Given the description of an element on the screen output the (x, y) to click on. 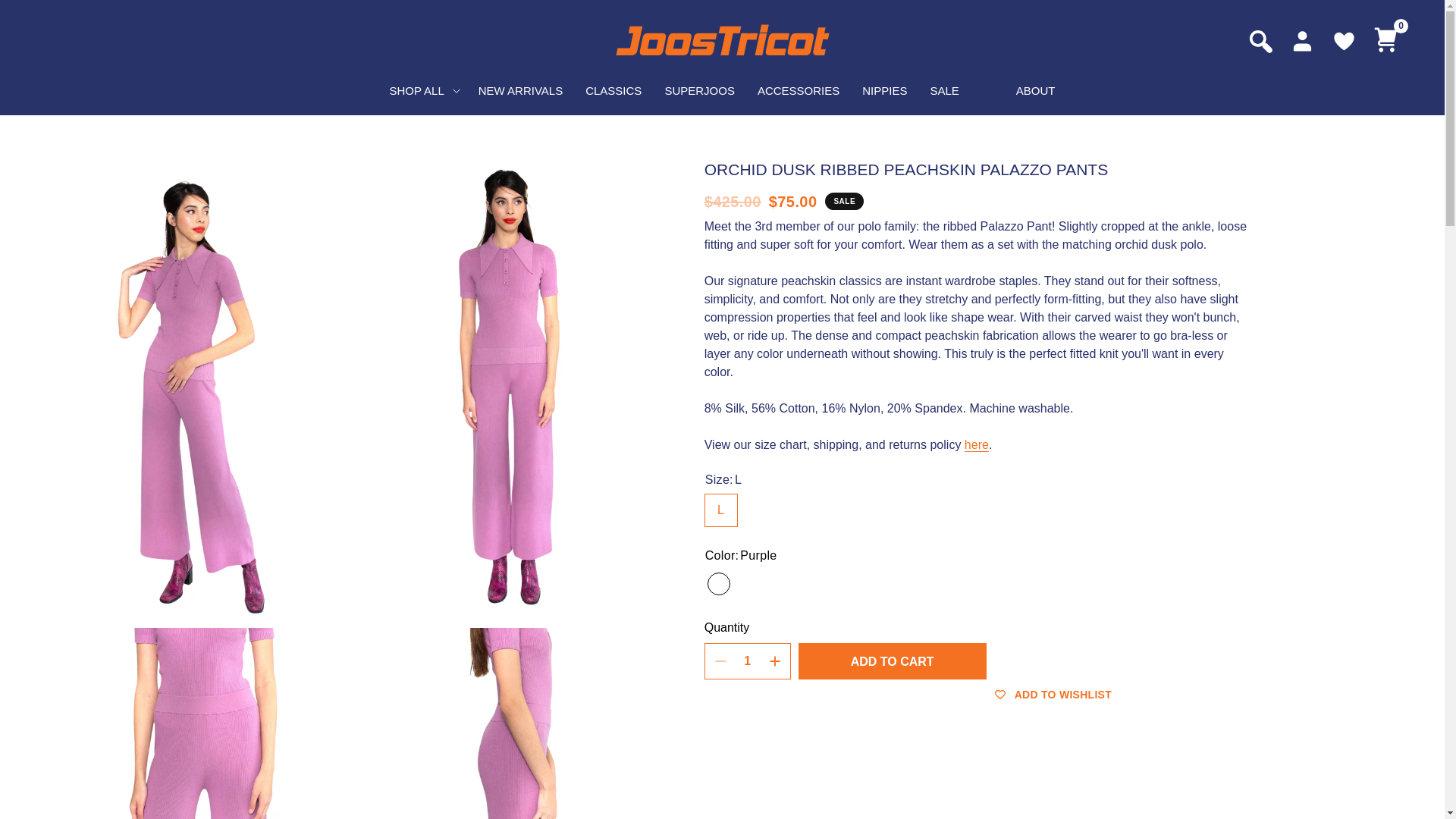
SHOP ALL (421, 90)
NIPPIES (884, 90)
0 (1386, 40)
here (975, 444)
CLASSICS (613, 90)
ABOUT (1035, 90)
SUPERJOOS (699, 90)
NEW ARRIVALS (520, 90)
